Given the description of an element on the screen output the (x, y) to click on. 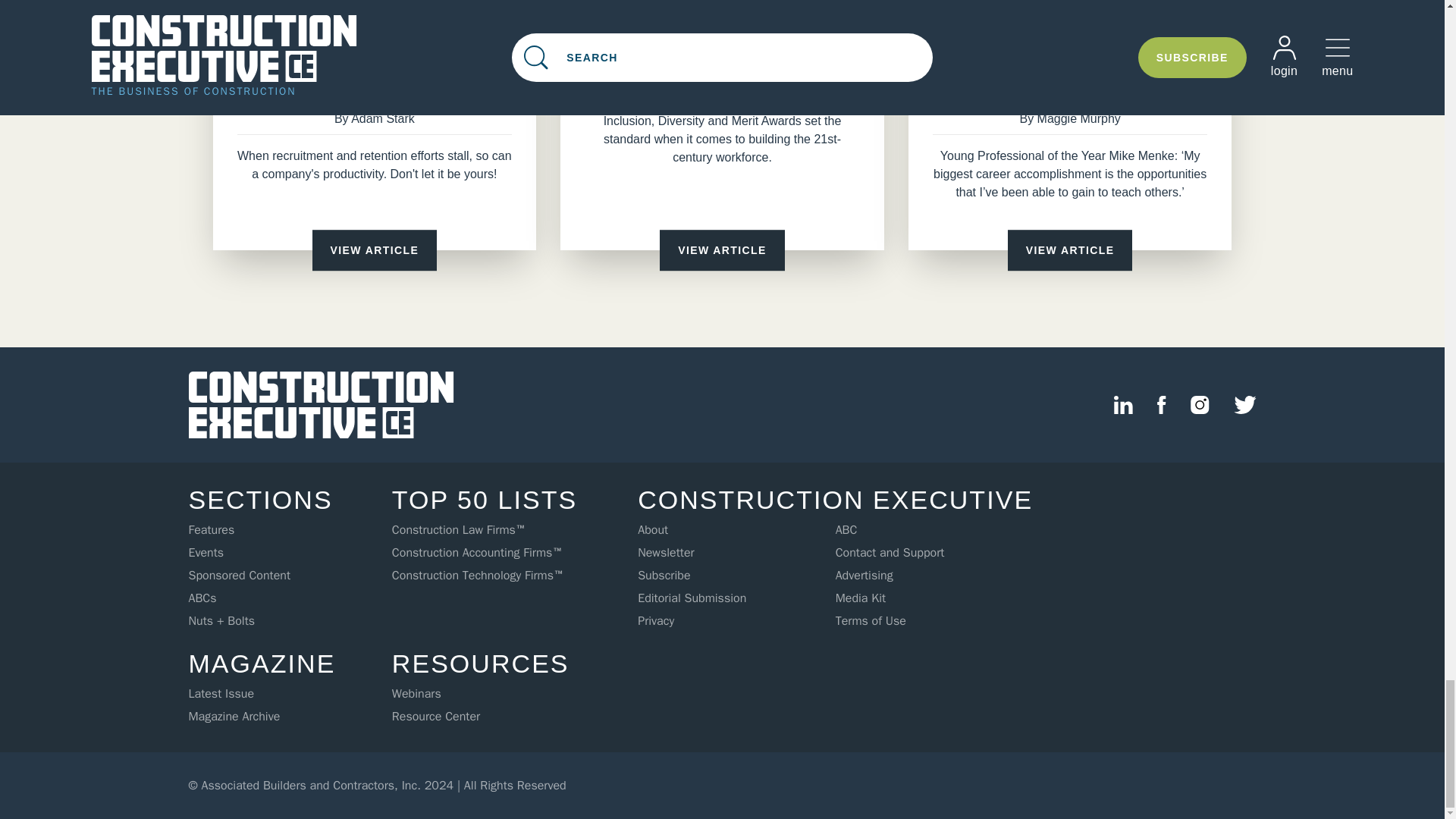
VIEW ARTICLE (375, 250)
VIEW ARTICLE (1069, 250)
VIEW ARTICLE (721, 250)
